Given the description of an element on the screen output the (x, y) to click on. 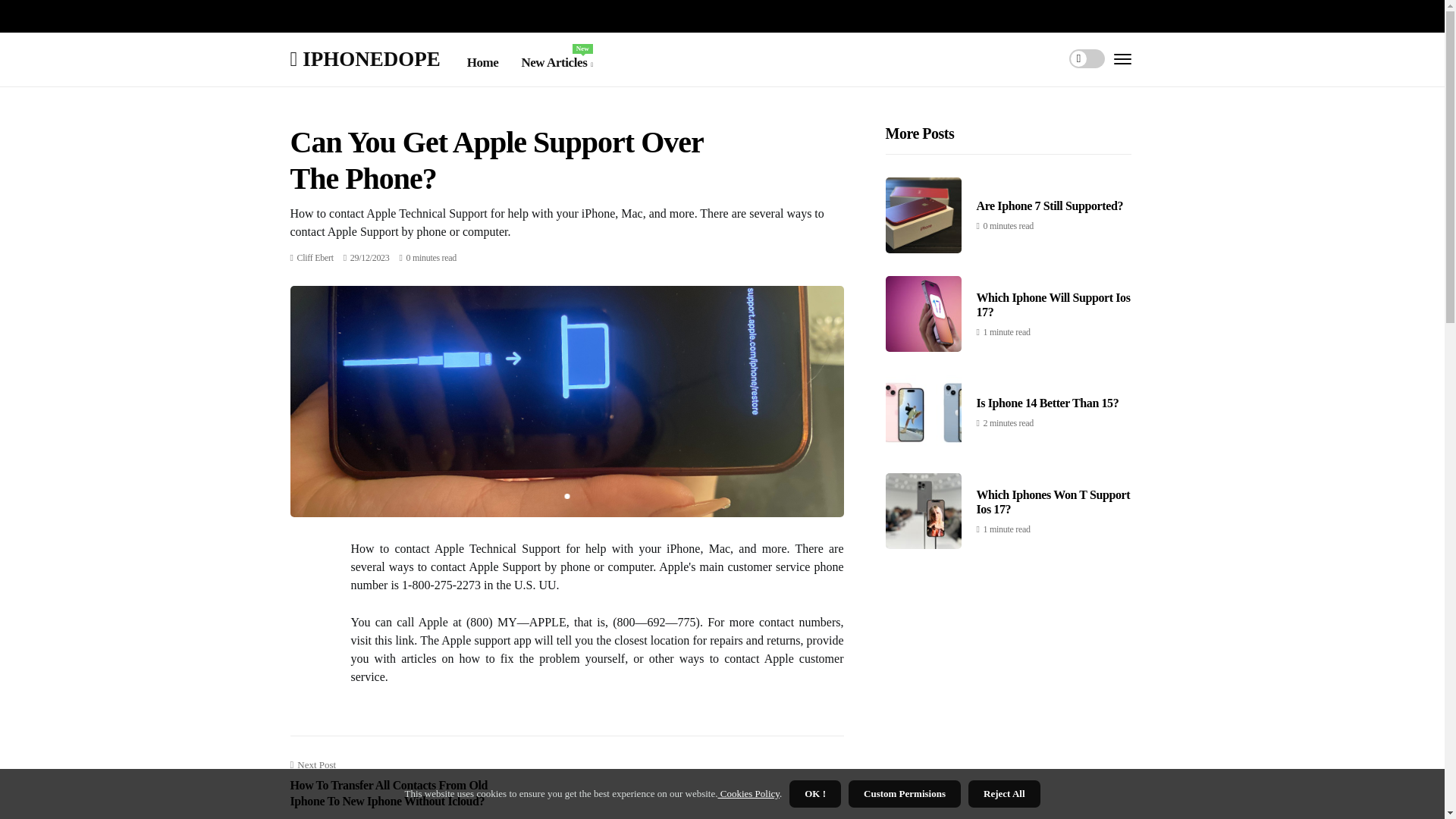
Which Iphone Will Support Ios 17? (1053, 304)
Are Iphone 7 Still Supported? (1049, 205)
IPHONEDOPE (364, 58)
Posts by Cliff Ebert (315, 257)
Cliff Ebert (315, 257)
Is Iphone 14 Better Than 15? (1047, 402)
1 (556, 62)
